Given the description of an element on the screen output the (x, y) to click on. 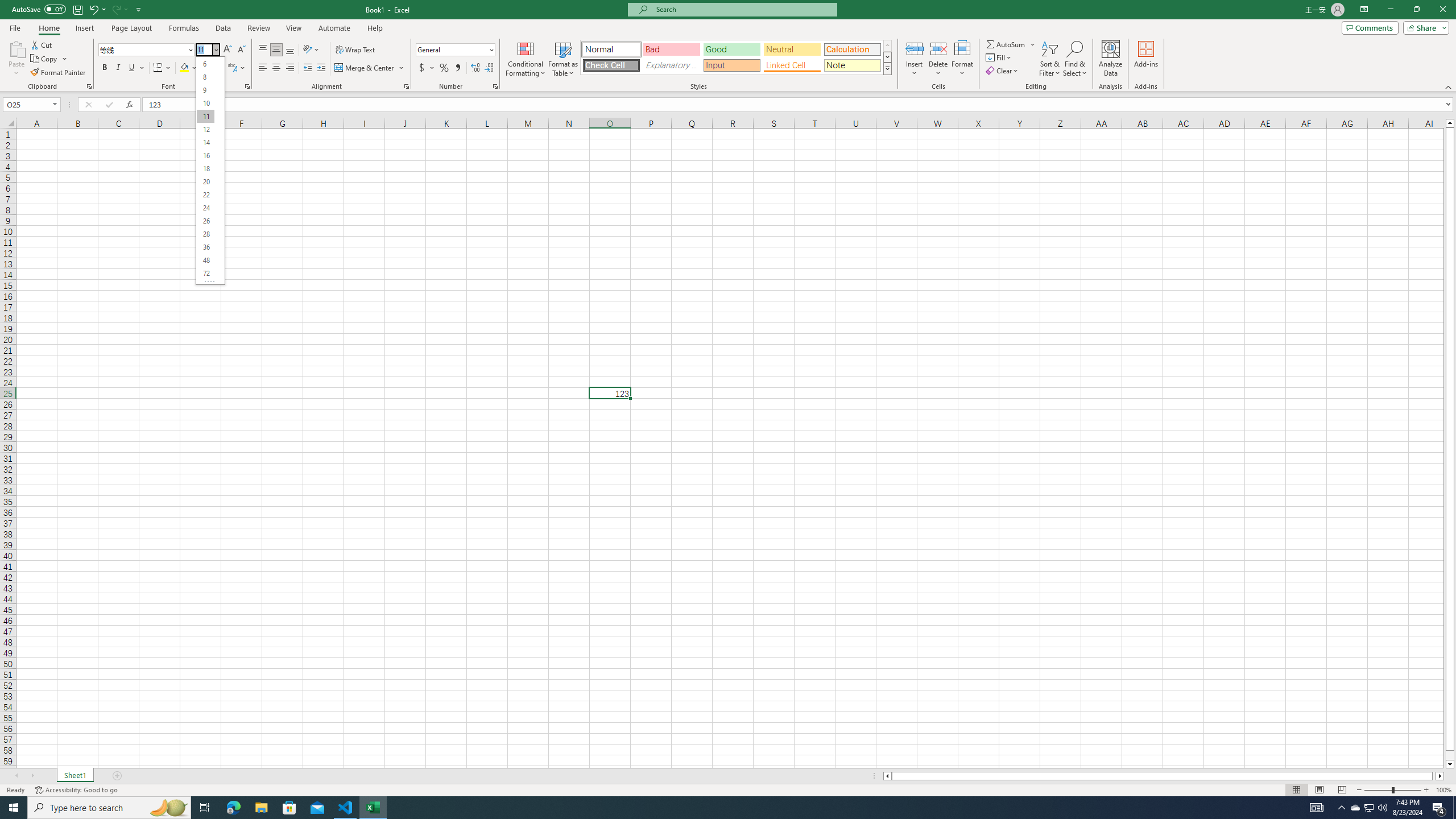
Delete (938, 58)
Increase Decimal (474, 67)
Check Cell (611, 65)
Neutral (791, 49)
Align Left (262, 67)
Show Phonetic Field (236, 67)
